Given the description of an element on the screen output the (x, y) to click on. 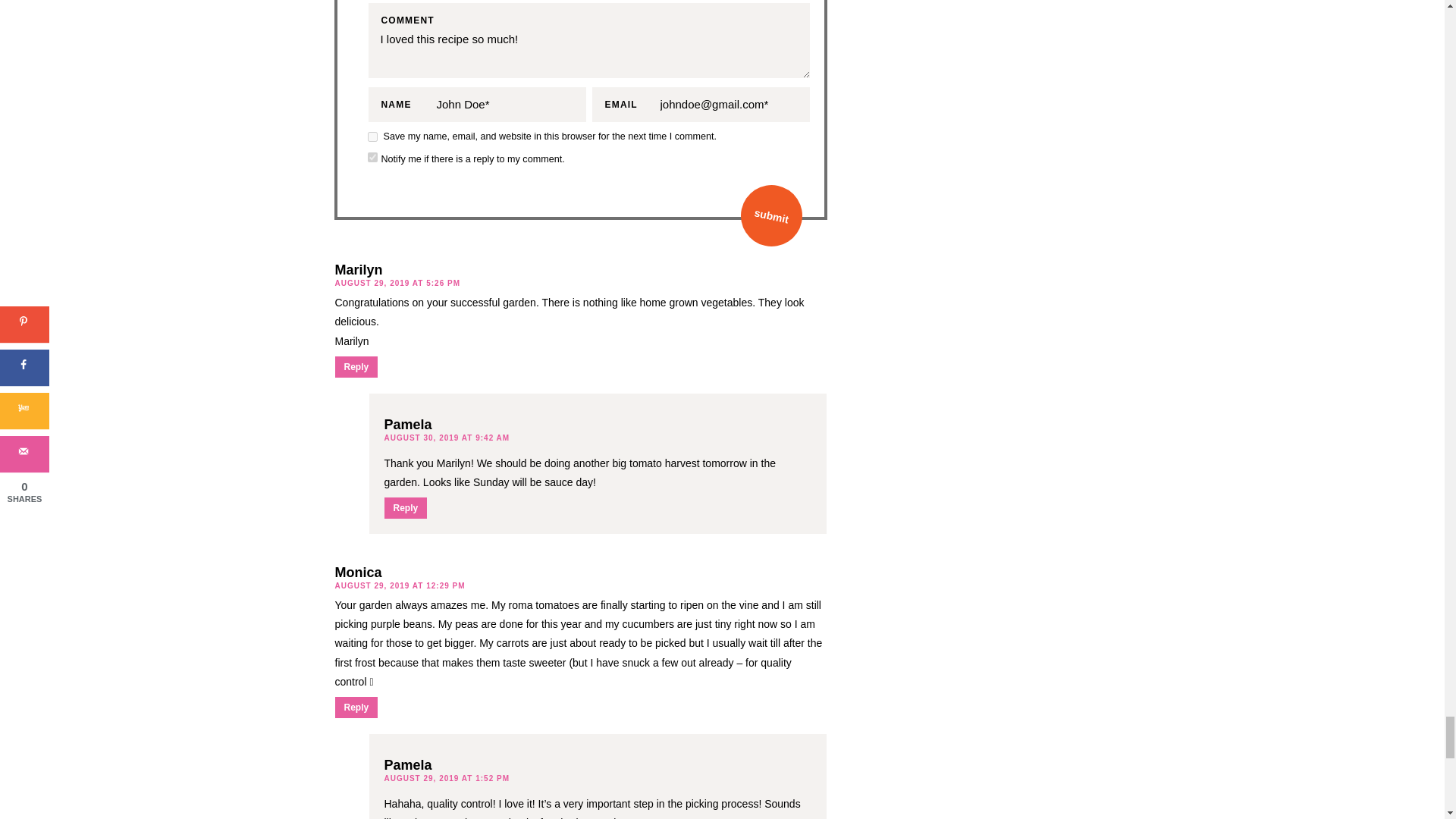
Submit (765, 209)
yes (371, 136)
on (371, 157)
